Given the description of an element on the screen output the (x, y) to click on. 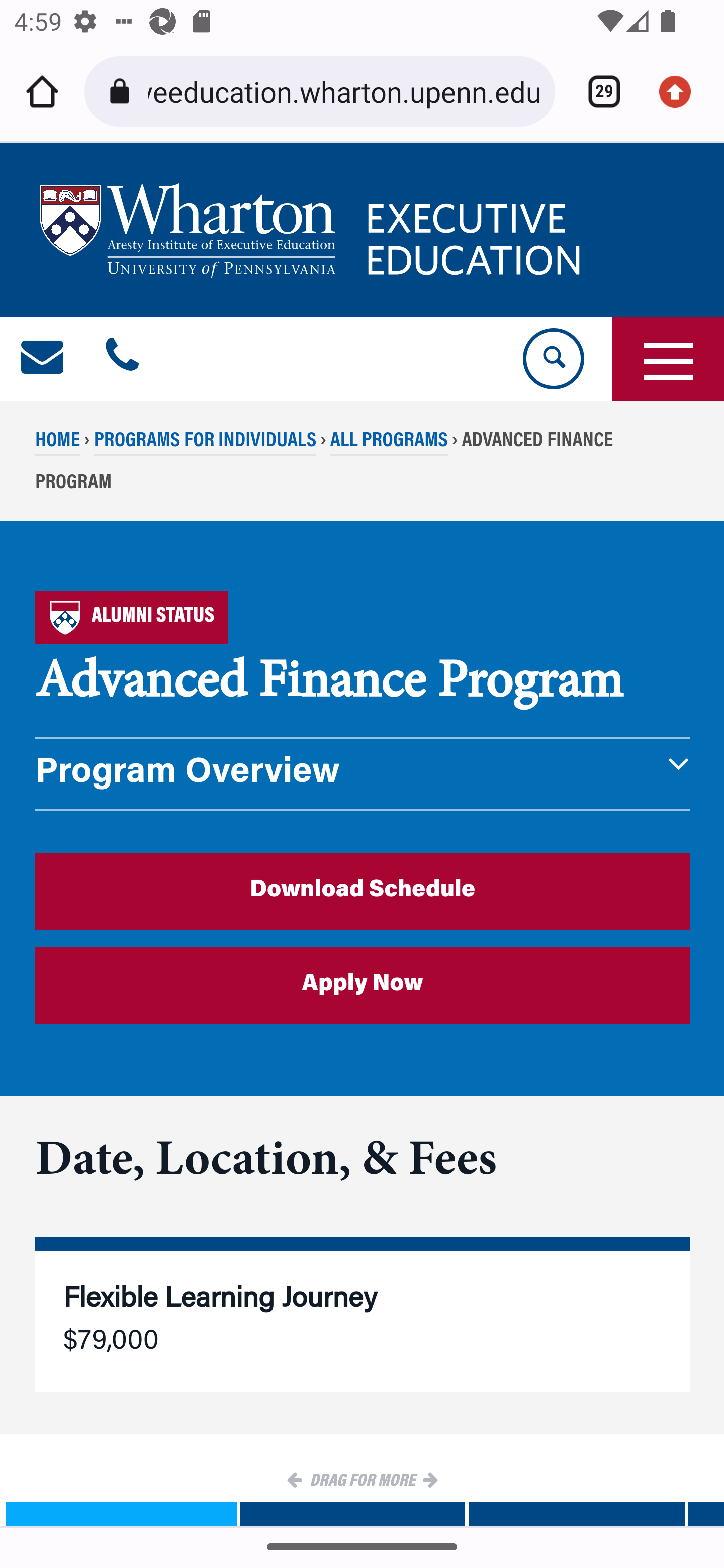
Home (42, 91)
Connection is secure (122, 91)
Switch or close tabs (597, 91)
Update available. More options (681, 91)
Wharton Executive Education (313, 230)
 (43, 358)
 (122, 358)
Mobile menu toggle (668, 358)
 Search Wharton  (552, 358)
HOME (58, 444)
PROGRAMS FOR INDIVIDUALS (205, 444)
ALL PROGRAMS (388, 444)
Program Overview  (362, 774)
Download Schedule (363, 890)
Apply Now (363, 986)
